Given the description of an element on the screen output the (x, y) to click on. 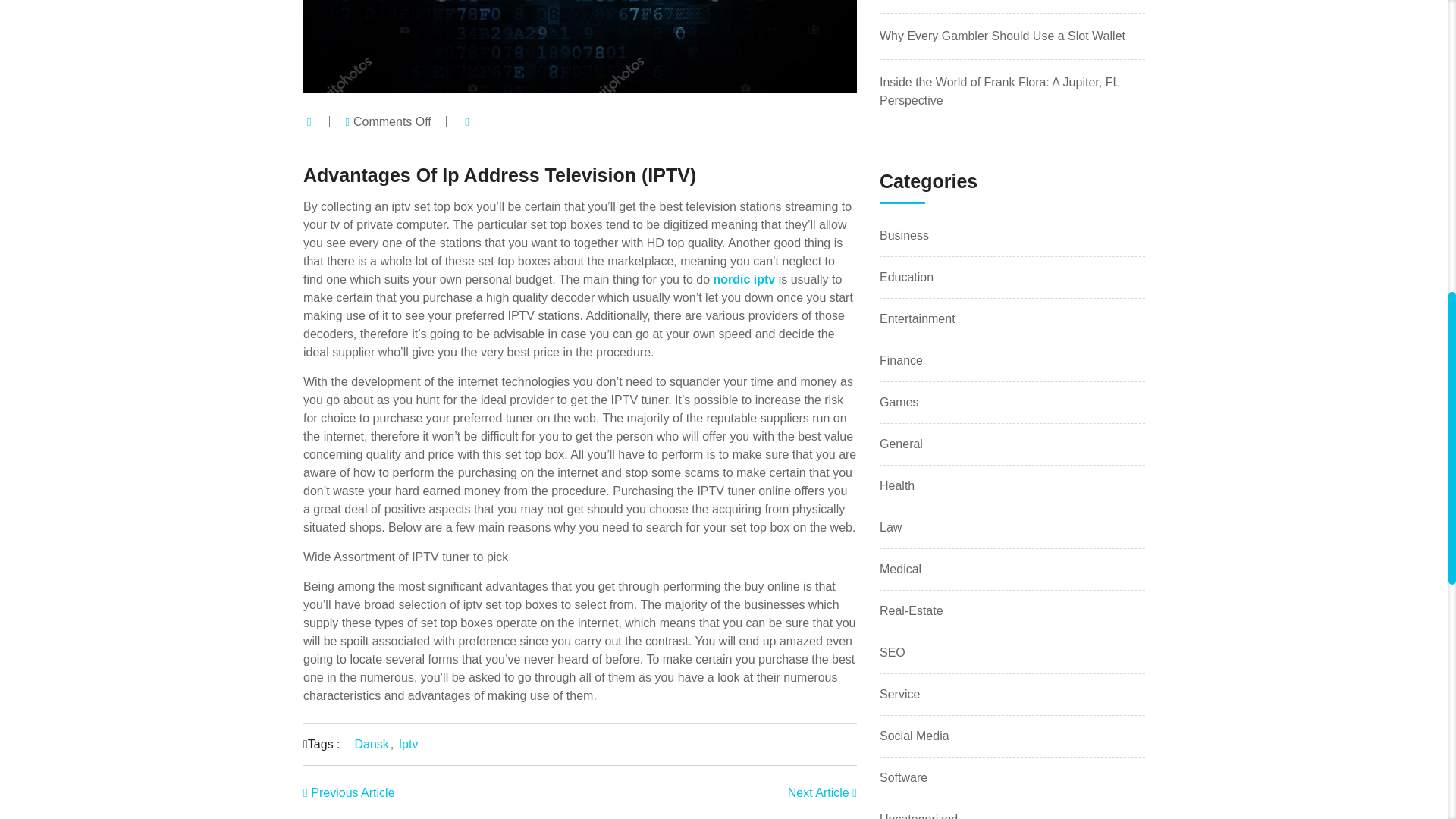
Dansk (370, 743)
Uncategorized (918, 816)
nordic iptv (743, 278)
Previous Article (348, 791)
Law (890, 526)
Software (903, 777)
Health (896, 485)
Social Media (914, 735)
Inside the World of Frank Flora: A Jupiter, FL Perspective (999, 91)
Entertainment (917, 318)
